Given the description of an element on the screen output the (x, y) to click on. 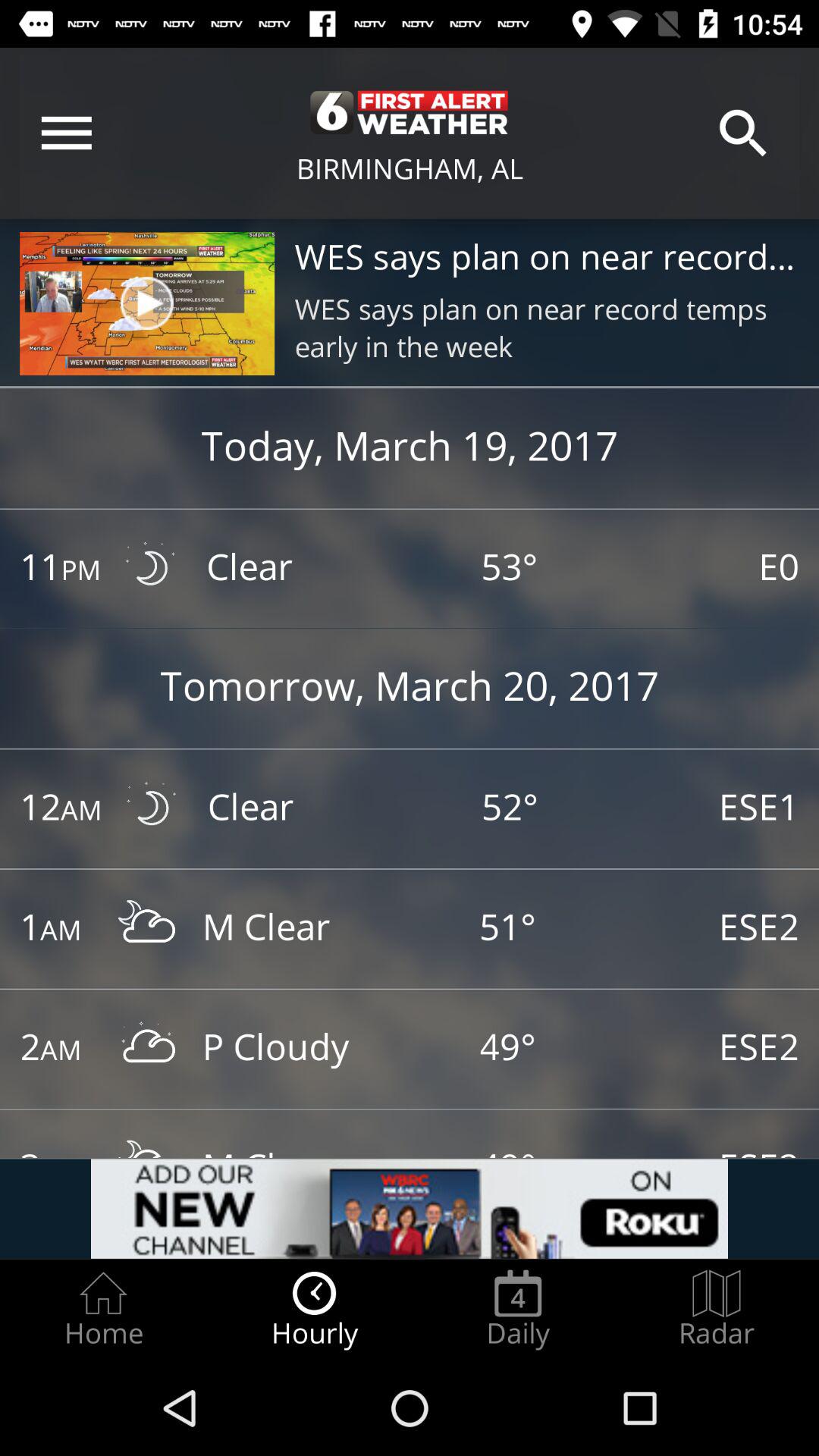
flip until home icon (103, 1309)
